Given the description of an element on the screen output the (x, y) to click on. 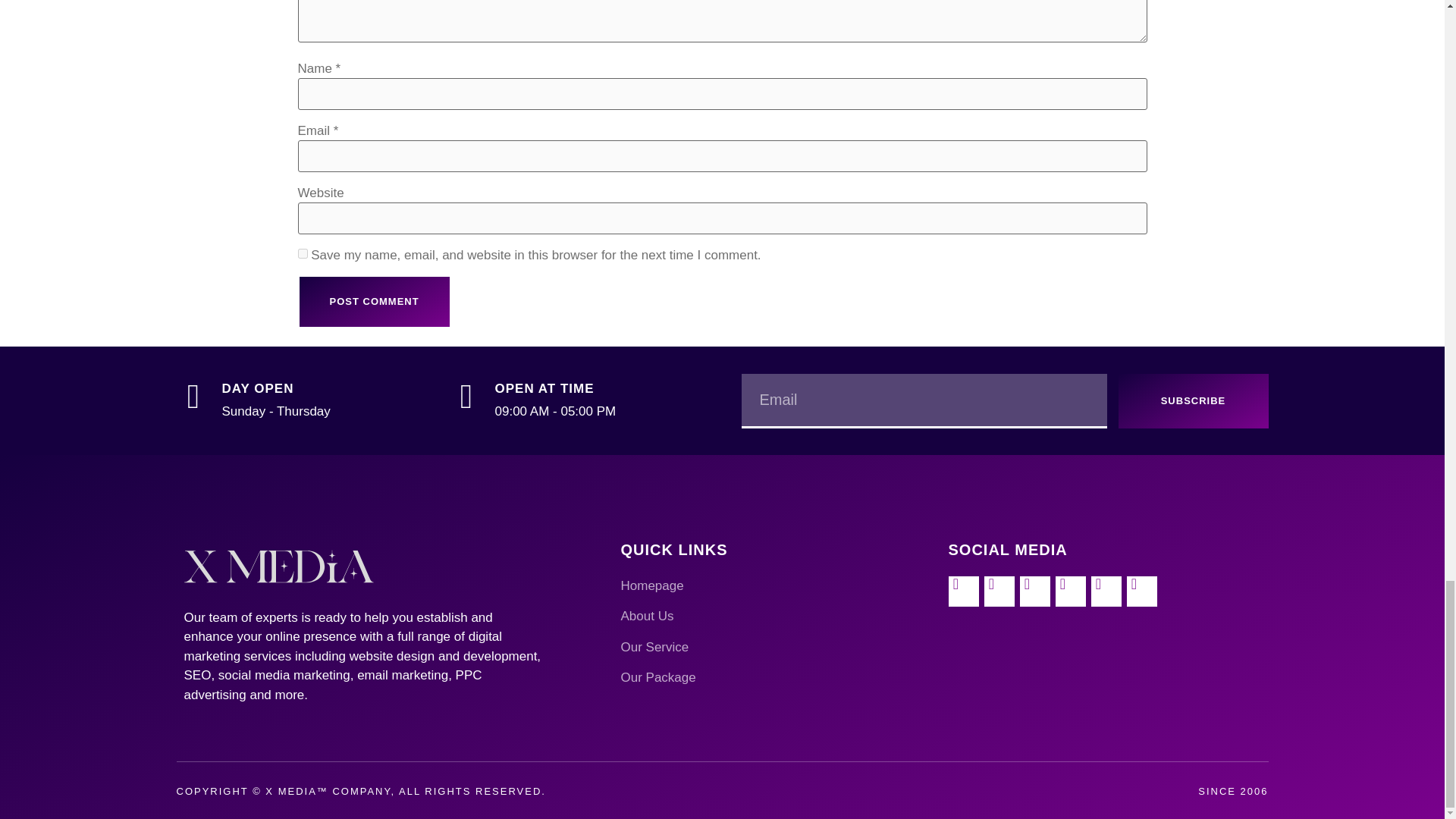
Our Service (776, 647)
Homepage (776, 586)
Post Comment (373, 301)
SUBSCRIBE (1193, 400)
Our Package (776, 677)
About Us (776, 616)
Post Comment (373, 301)
yes (302, 253)
